Given the description of an element on the screen output the (x, y) to click on. 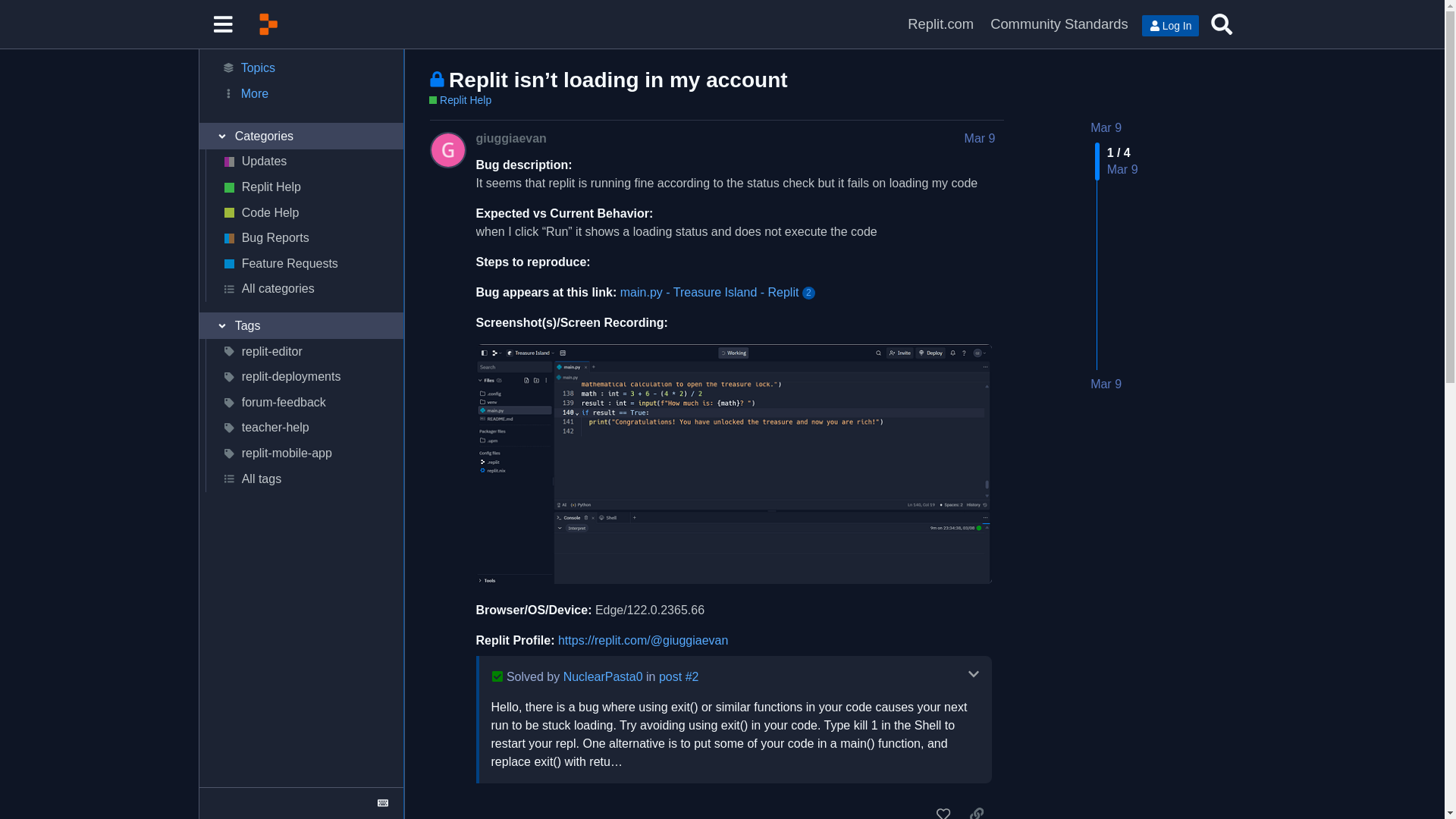
Mar 9 (1105, 127)
All categories (304, 289)
Bug Reports (304, 238)
Mar 9 (1105, 384)
Replit Help (460, 100)
More (300, 94)
Get help on how to use Replit from fellow community members. (304, 186)
replit-editor (304, 351)
forum-feedback (304, 402)
Categories (300, 135)
Mar 9 (979, 137)
Community Standards (1059, 23)
Toggle section (300, 325)
